Given the description of an element on the screen output the (x, y) to click on. 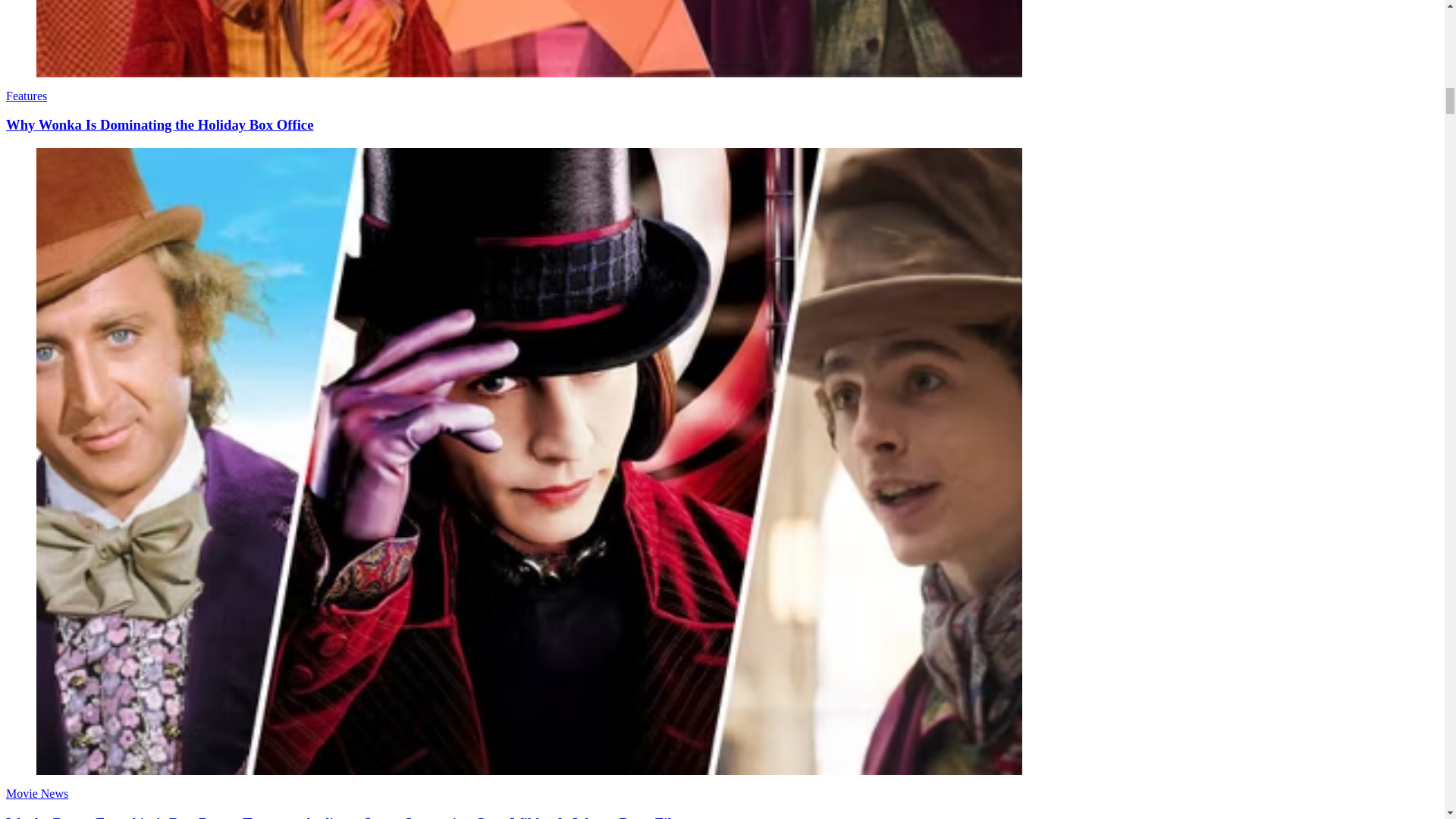
Why Wonka Is Dominating the Holiday Box Office  (159, 124)
